Given the description of an element on the screen output the (x, y) to click on. 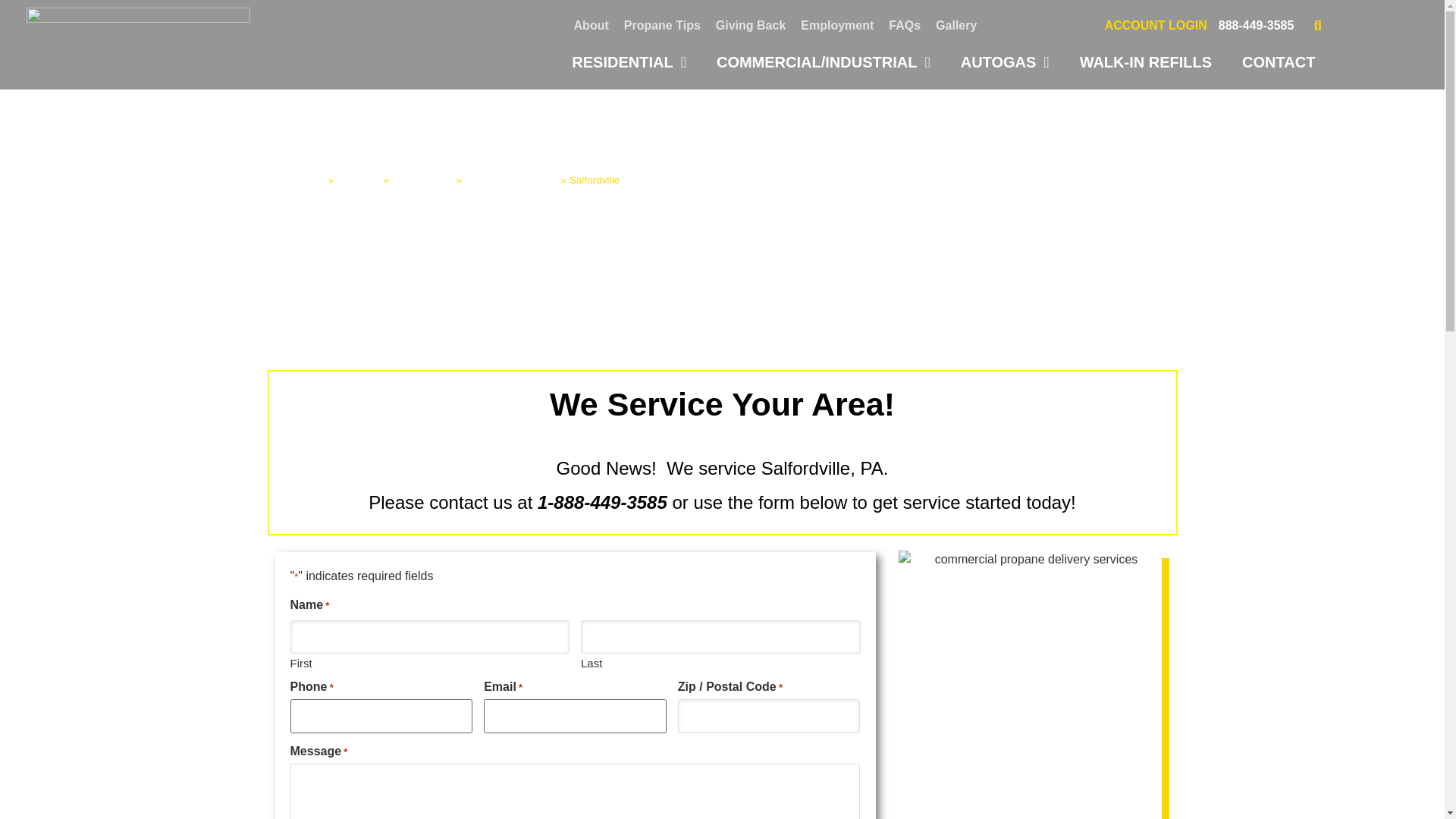
Giving Back (750, 25)
RESIDENTIAL (628, 61)
Propane Tips (661, 25)
888-449-3585 (1256, 24)
FAQs (904, 25)
ACCOUNT LOGIN (1156, 24)
Gallery (956, 25)
Employment (836, 25)
About (590, 25)
